Given the description of an element on the screen output the (x, y) to click on. 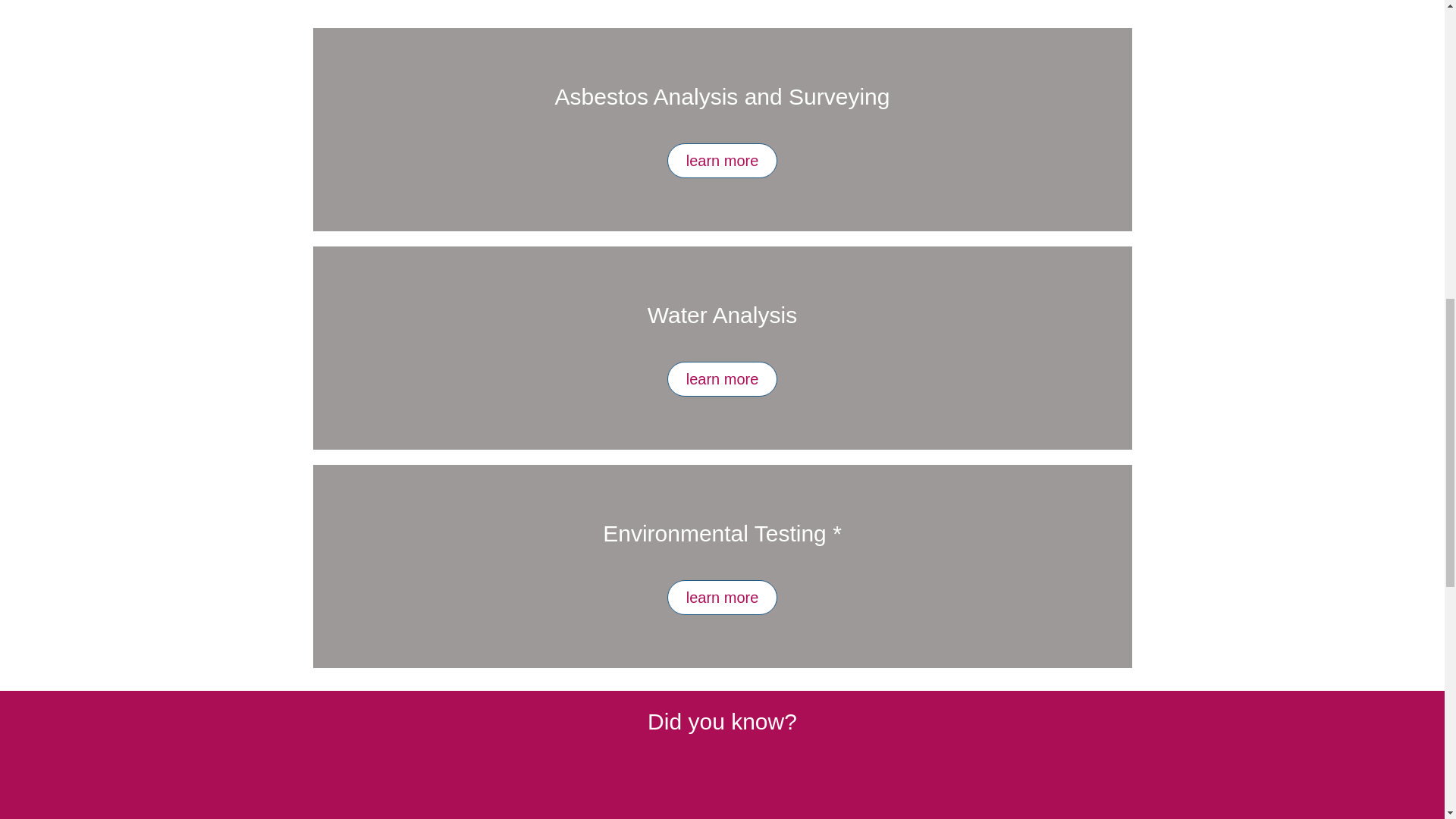
learn more (721, 378)
learn more (721, 597)
learn more (721, 160)
